Given the description of an element on the screen output the (x, y) to click on. 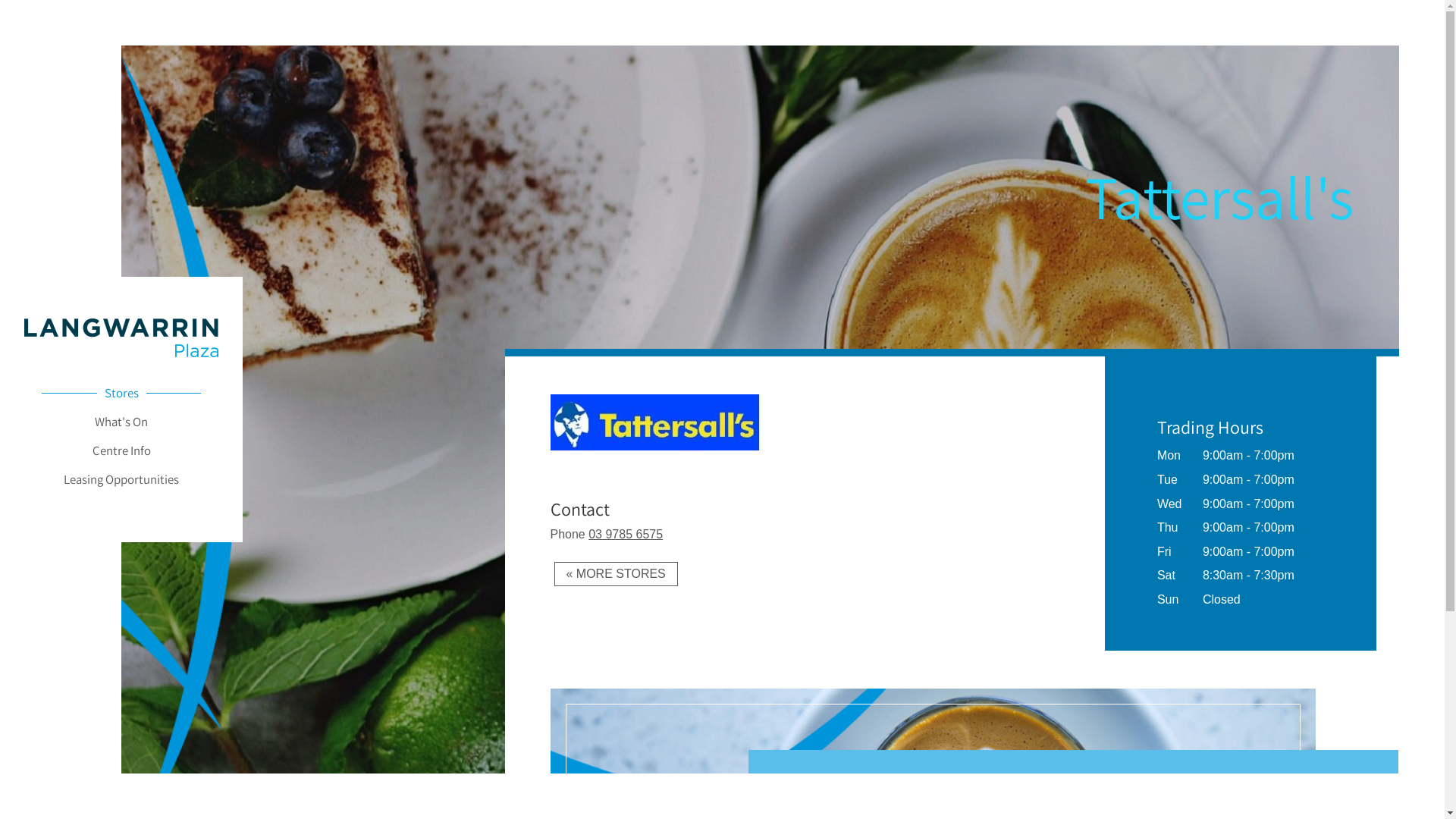
Stores Element type: text (121, 391)
What's On Element type: text (121, 420)
03 9785 6575 Element type: text (625, 533)
Leasing Opportunities Element type: text (121, 478)
Centre Info Element type: text (121, 449)
